Given the description of an element on the screen output the (x, y) to click on. 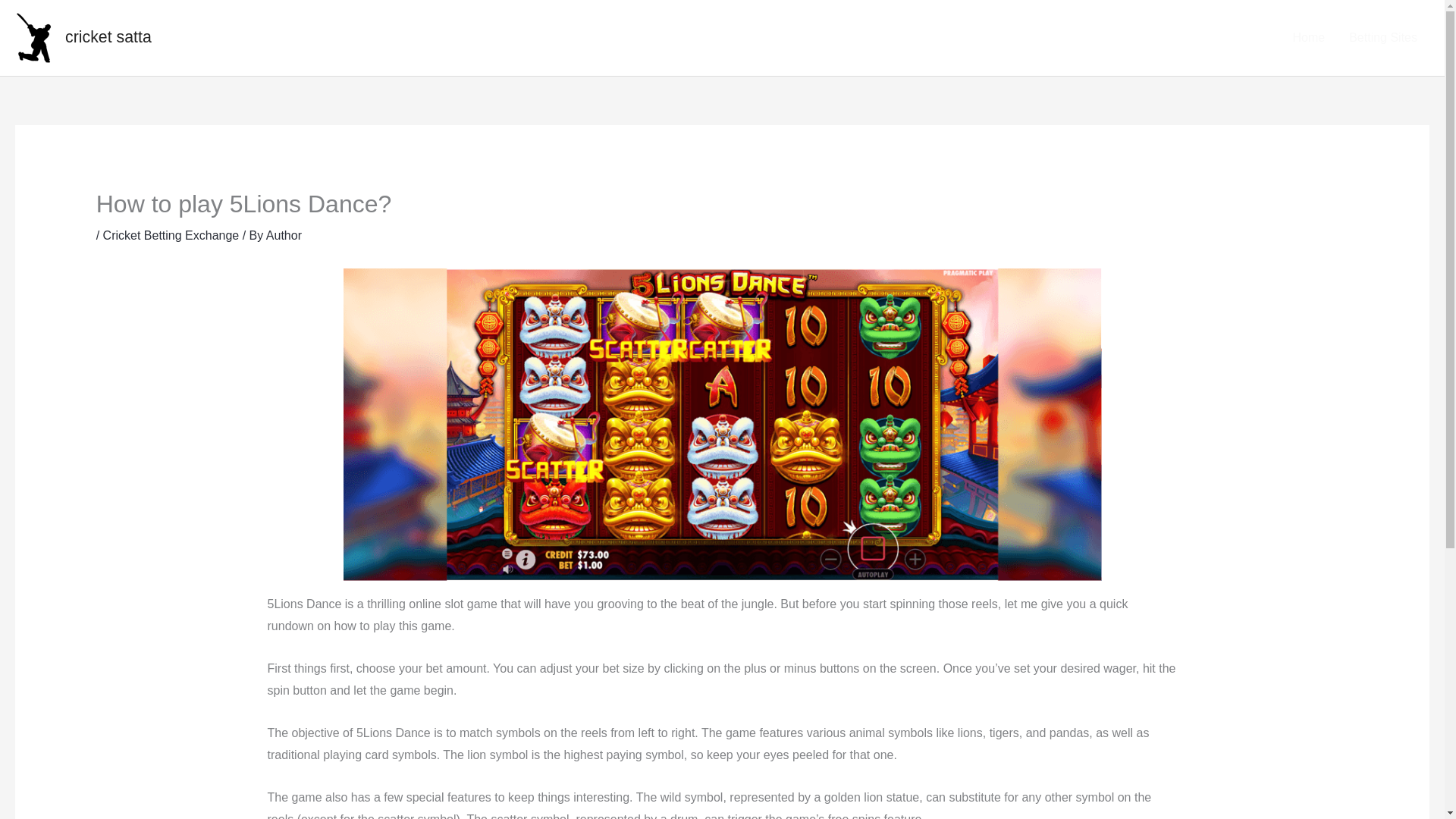
View all posts by Author (283, 235)
Home (1307, 37)
Author (283, 235)
Cricket Betting Exchange (171, 235)
Betting Sites (1382, 37)
cricket satta (108, 36)
